Given the description of an element on the screen output the (x, y) to click on. 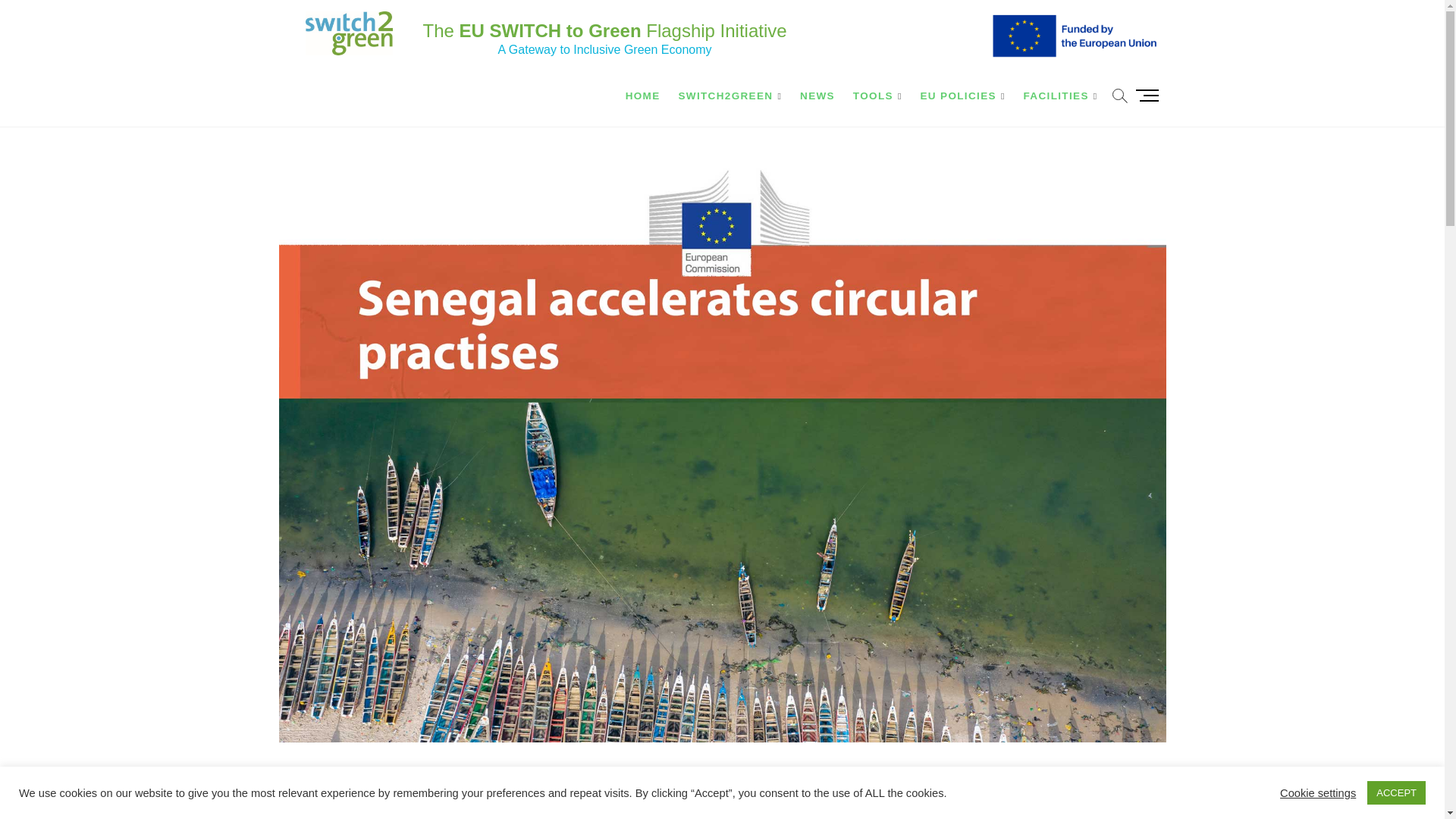
TOOLS (877, 96)
Menu Button (1150, 95)
EU POLICIES (962, 96)
FACILITIES (1060, 96)
SWITCH2GREEN (729, 96)
